Given the description of an element on the screen output the (x, y) to click on. 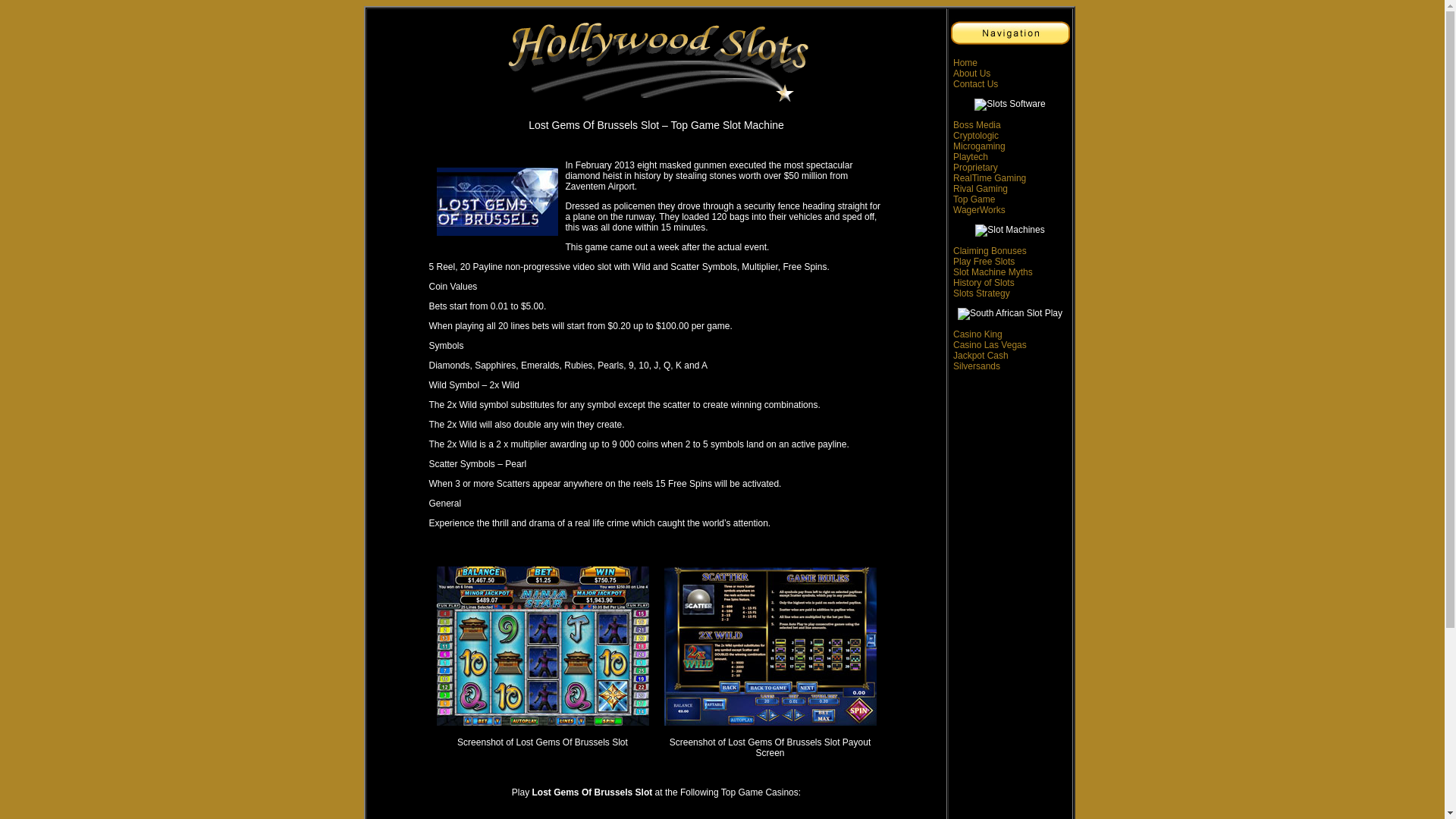
Wagering Requirements for Online Slot Bonuses (989, 250)
Casino Las Vegas (989, 344)
WagerWorks (979, 209)
Slots Strategy (981, 293)
RealTime Gaming (989, 177)
Jackpot Cash (981, 355)
